Given the description of an element on the screen output the (x, y) to click on. 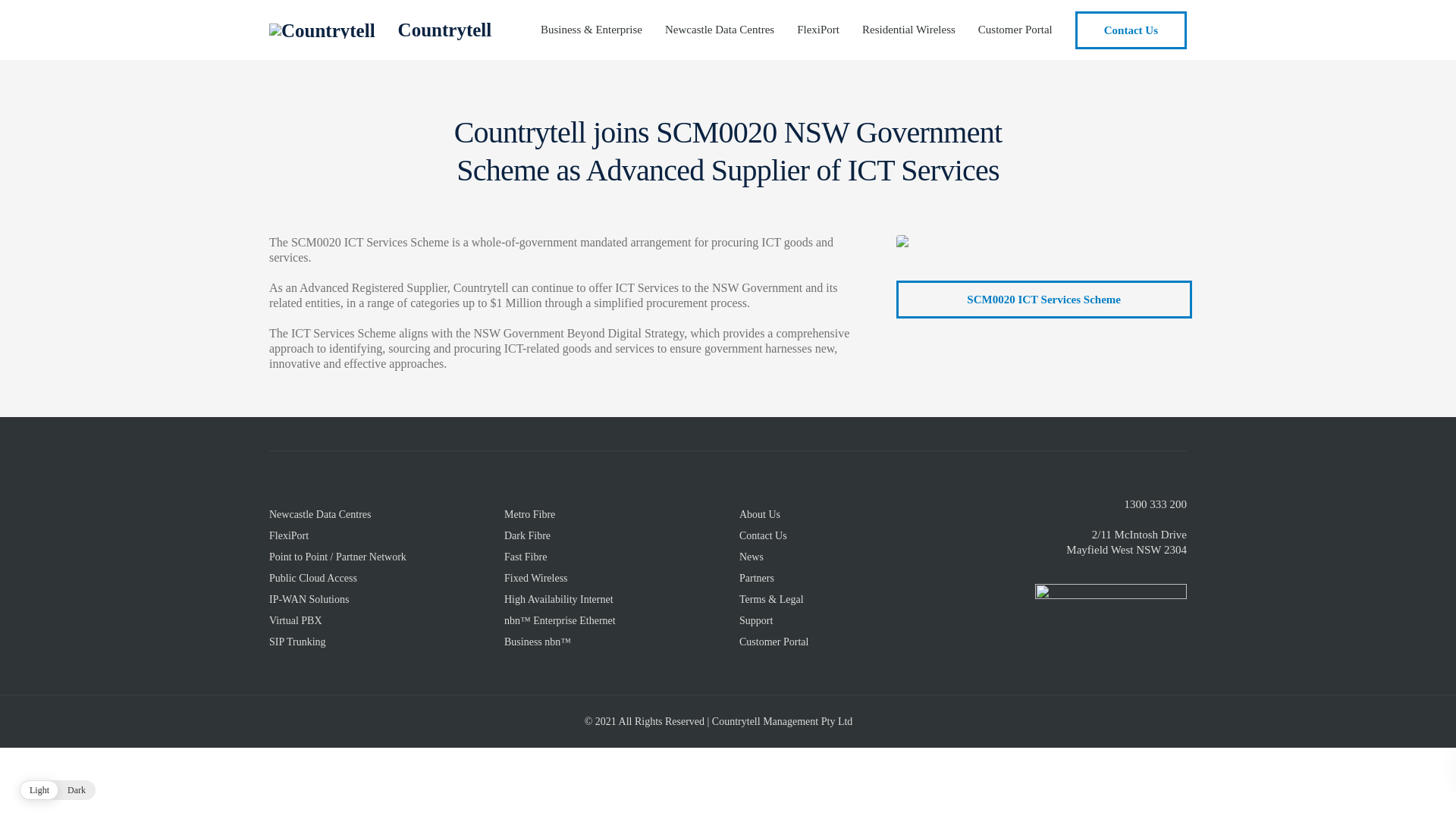
Newcastle Data Centres Element type: text (320, 516)
Public Cloud Access Element type: text (313, 580)
Business & Enterprise Element type: text (591, 29)
Fixed Wireless Element type: text (535, 580)
About Us Element type: text (759, 516)
Fast Fibre Element type: text (525, 559)
Virtual PBX Element type: text (295, 622)
SCM0020 ICT Services Scheme Element type: text (1044, 299)
SIP Trunking Element type: text (297, 644)
Newcastle Data Centres Element type: text (719, 29)
Dark Fibre Element type: text (527, 538)
Customer Portal Element type: text (1014, 29)
Support Element type: text (755, 622)
Partners Element type: text (756, 580)
Countrytell Element type: text (445, 29)
Point to Point / Partner Network Element type: text (337, 559)
Contact Us Element type: text (1130, 29)
High Availability Internet Element type: text (558, 601)
Customer Portal Element type: text (773, 644)
IP-WAN Solutions Element type: text (308, 601)
FlexiPort Element type: text (817, 29)
Terms & Legal Element type: text (771, 601)
News Element type: text (751, 559)
Contact Us Element type: text (763, 538)
FlexiPort Element type: text (288, 538)
Residential Wireless Element type: text (908, 29)
Metro Fibre Element type: text (529, 516)
